Given the description of an element on the screen output the (x, y) to click on. 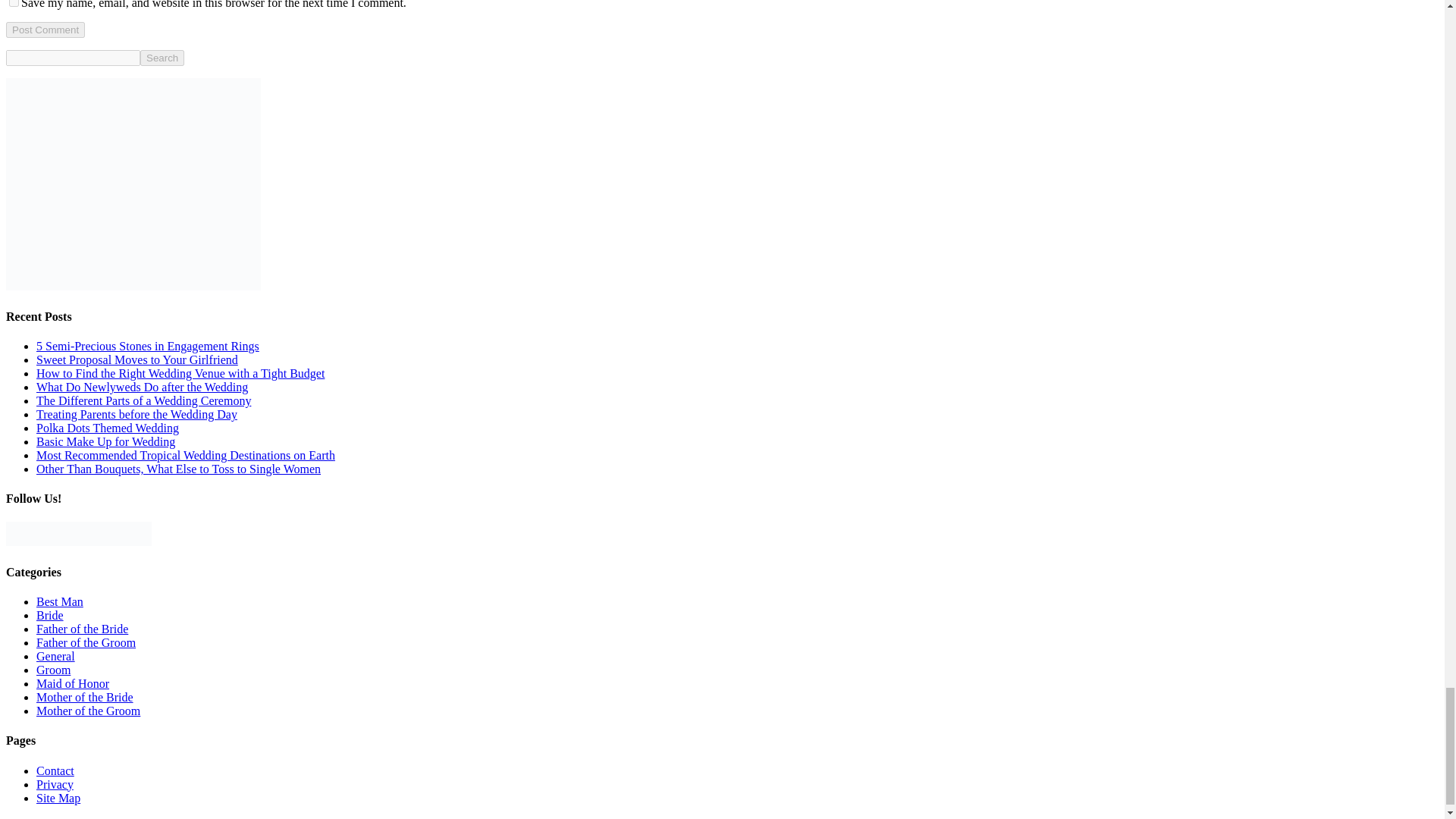
yes (13, 3)
Follow Us on Facebook (17, 533)
Search (161, 57)
Follow Us on Twitter (66, 533)
Post Comment (44, 29)
